Given the description of an element on the screen output the (x, y) to click on. 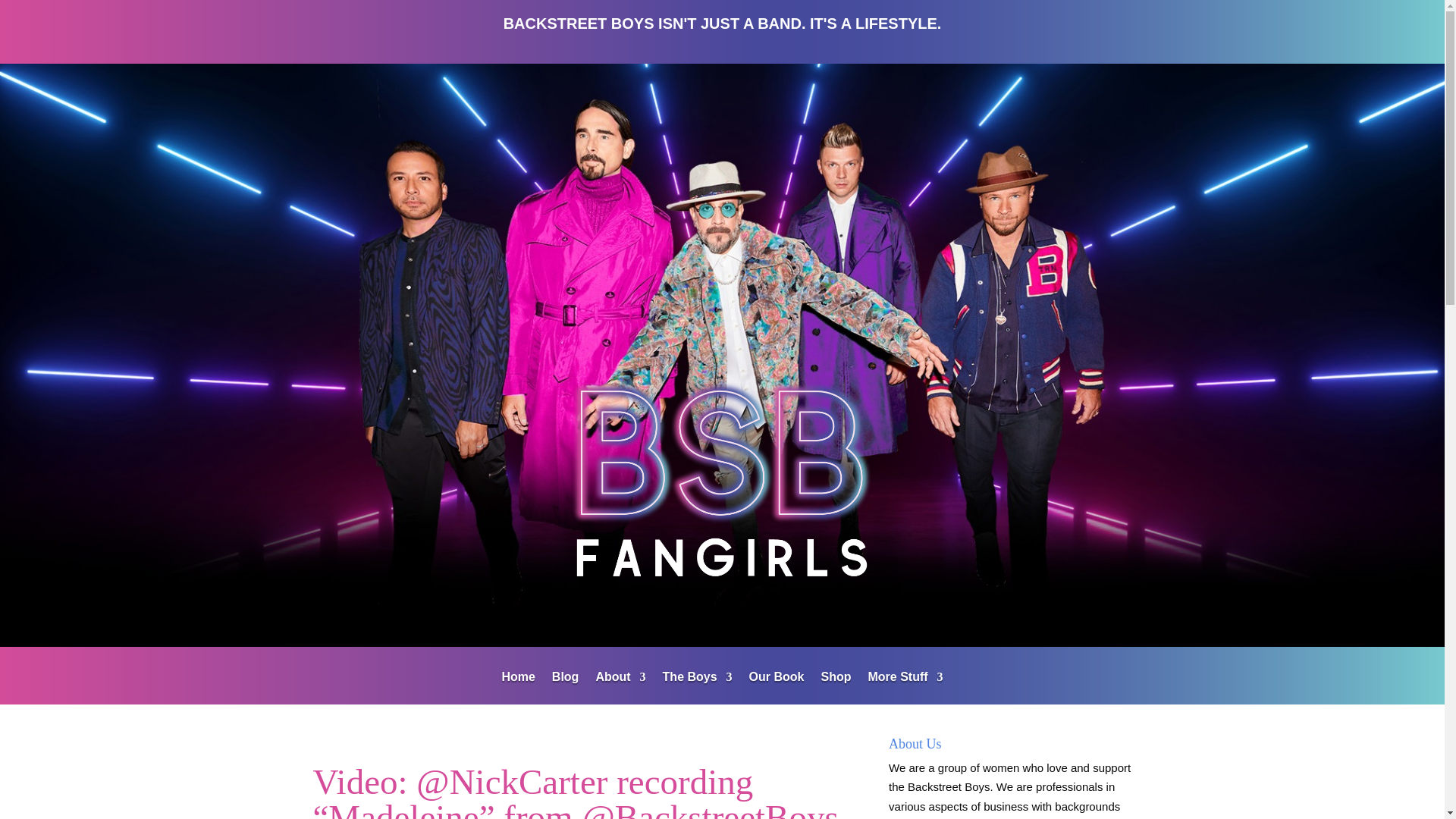
About (620, 687)
Home (517, 687)
The Boys (697, 687)
Our Book (777, 687)
Shop (835, 687)
More Stuff (904, 687)
